Given the description of an element on the screen output the (x, y) to click on. 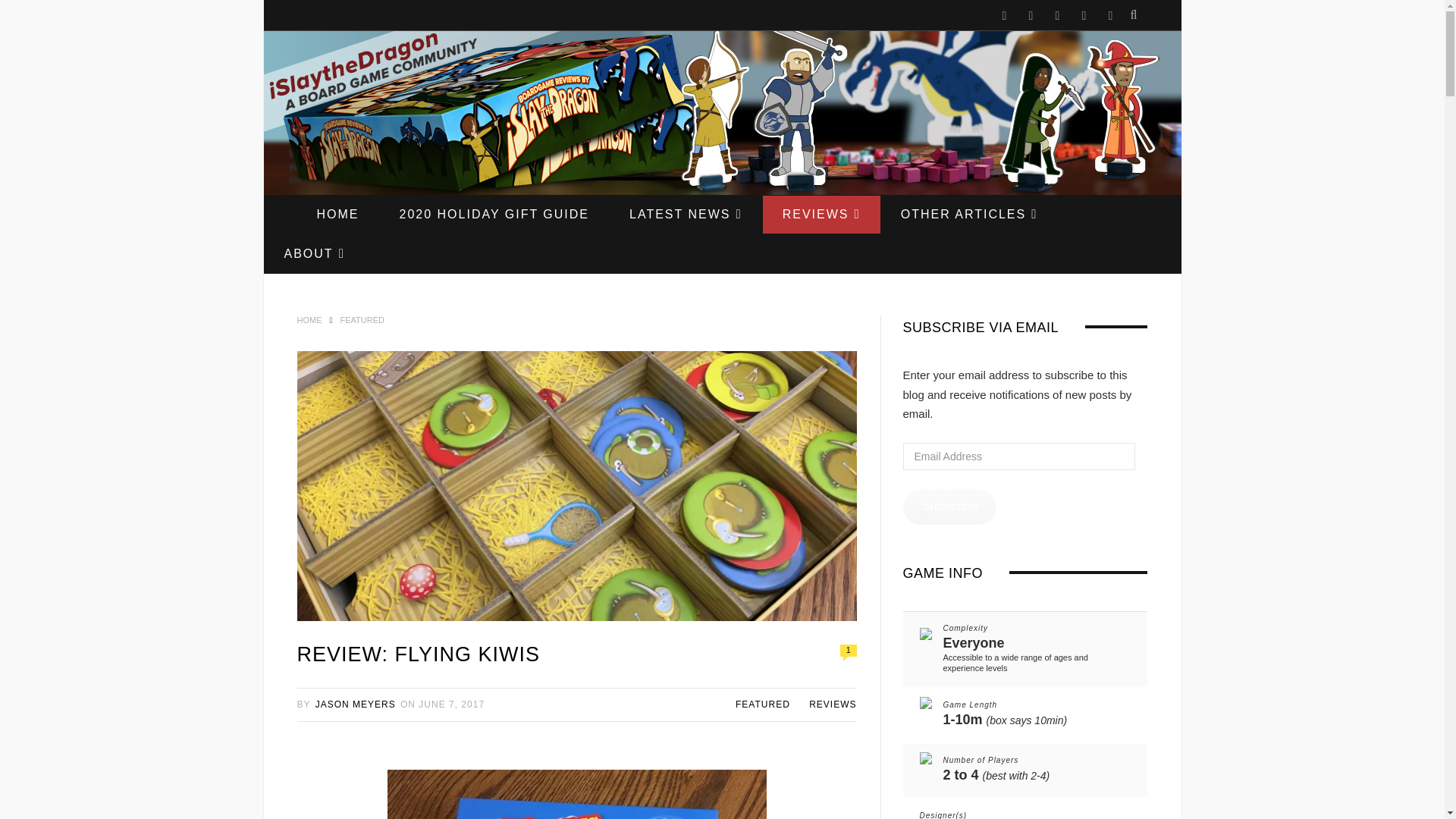
2020 HOLIDAY GIFT GUIDE (493, 214)
LATEST NEWS (685, 214)
HOME (337, 214)
Posts by Jason Meyers (355, 704)
REVIEWS (821, 214)
